Given the description of an element on the screen output the (x, y) to click on. 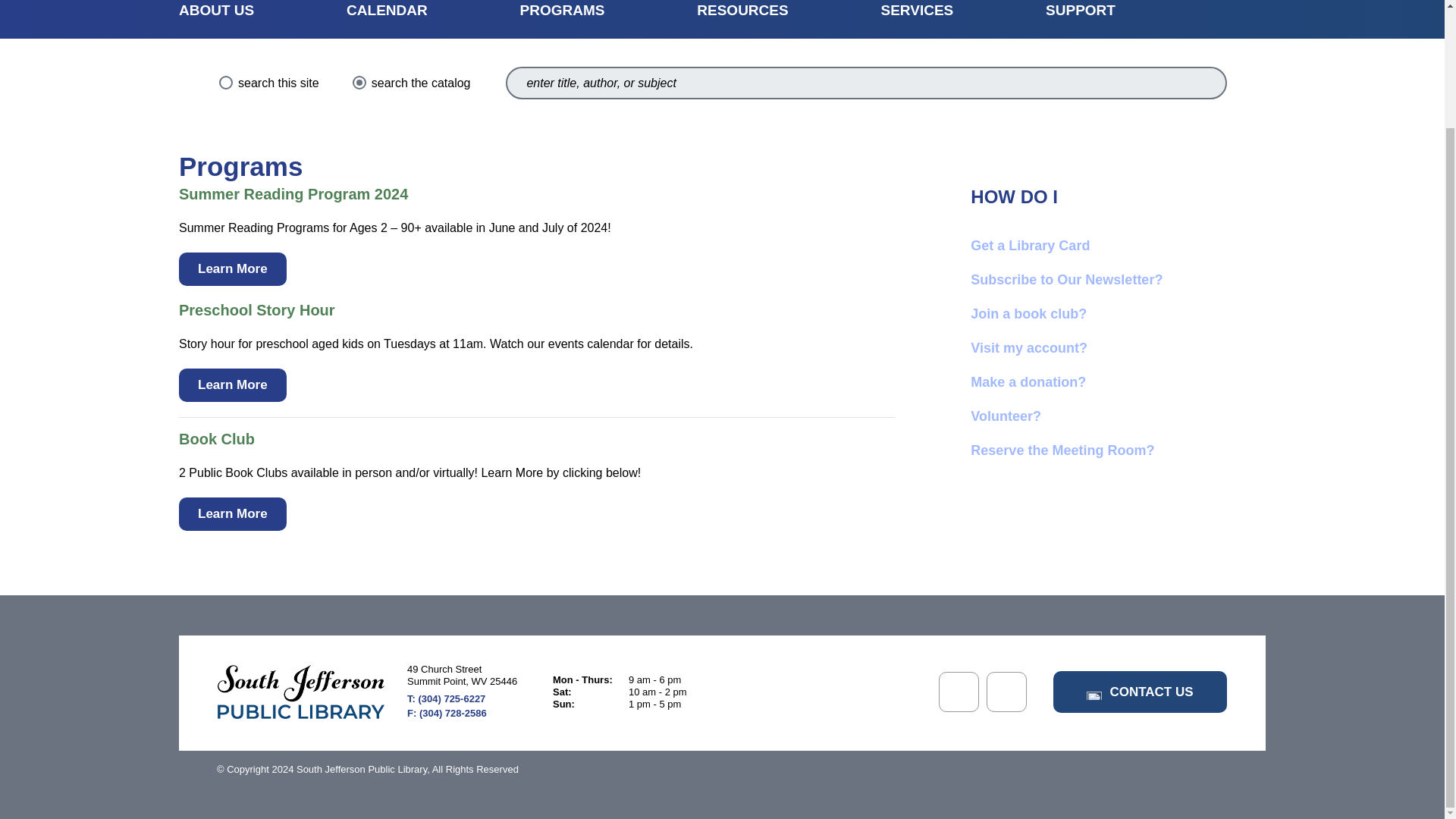
Learn More (232, 513)
PROGRAMS (562, 11)
Get a Library Card (1030, 245)
Join a book club? (1028, 314)
ABOUT US (216, 11)
Learn More (232, 268)
Learn More (232, 385)
SUPPORT (1080, 11)
Meeting Room Reservation (1062, 450)
Visit my account? (1029, 348)
